Given the description of an element on the screen output the (x, y) to click on. 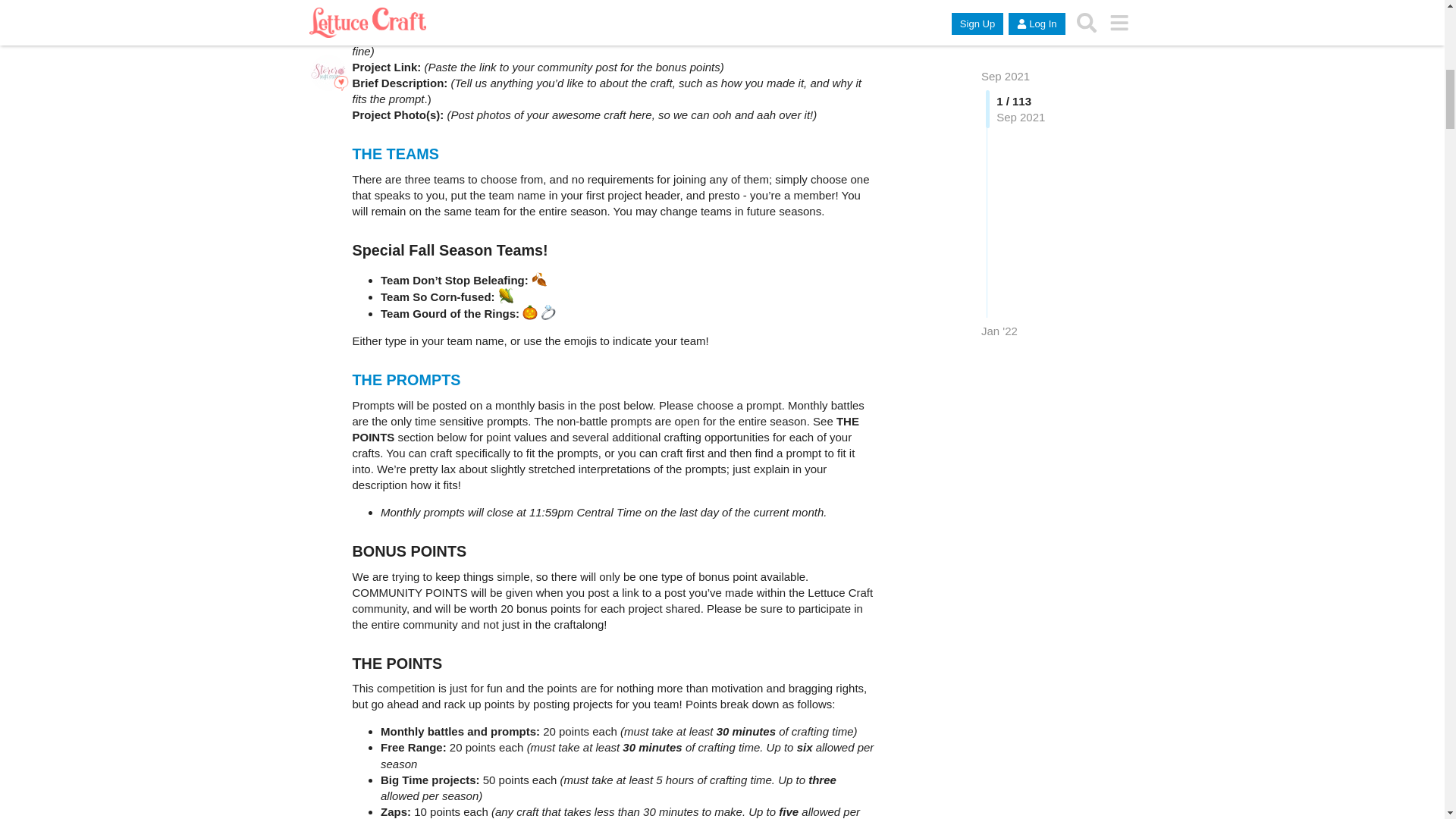
:ring: (548, 312)
:corn: (505, 295)
THE PROMPTS (406, 379)
THE TEAMS (395, 153)
